Given the description of an element on the screen output the (x, y) to click on. 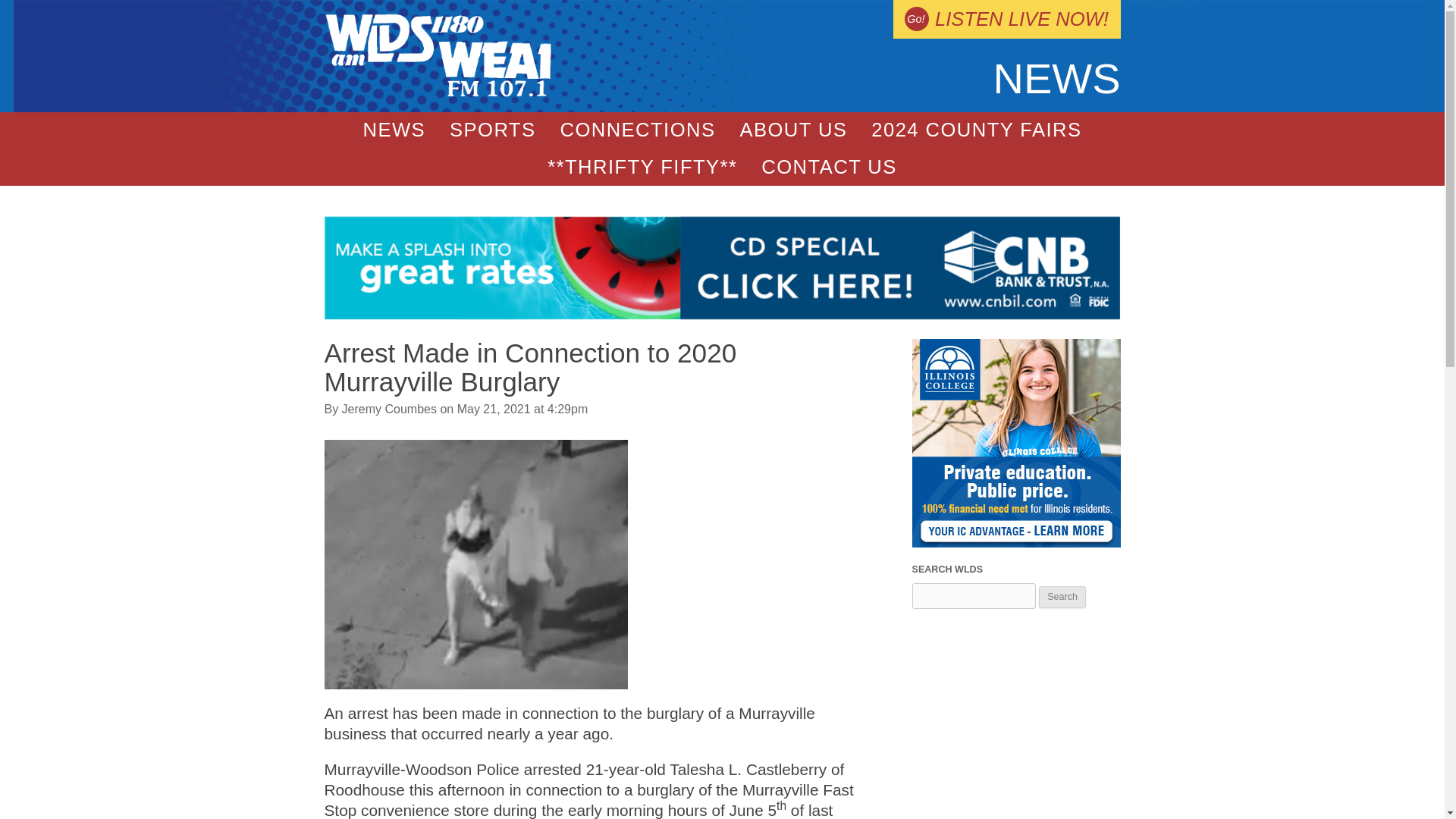
Search (1062, 597)
WLDS (437, 92)
Search (1062, 597)
CONTACT US (828, 167)
LISTEN LIVE NOW! (1006, 19)
2024 COUNTY FAIRS (976, 130)
